Given the description of an element on the screen output the (x, y) to click on. 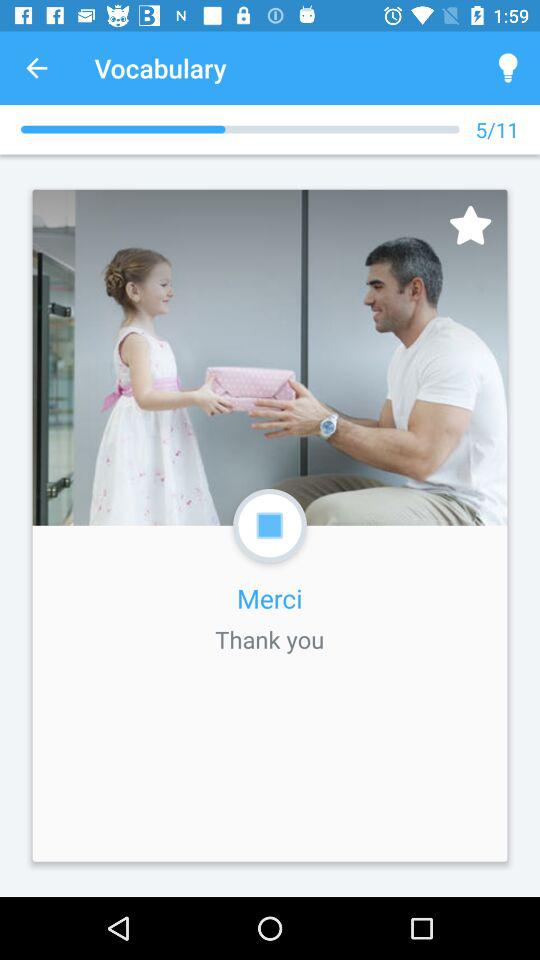
add to favorites (470, 224)
